Given the description of an element on the screen output the (x, y) to click on. 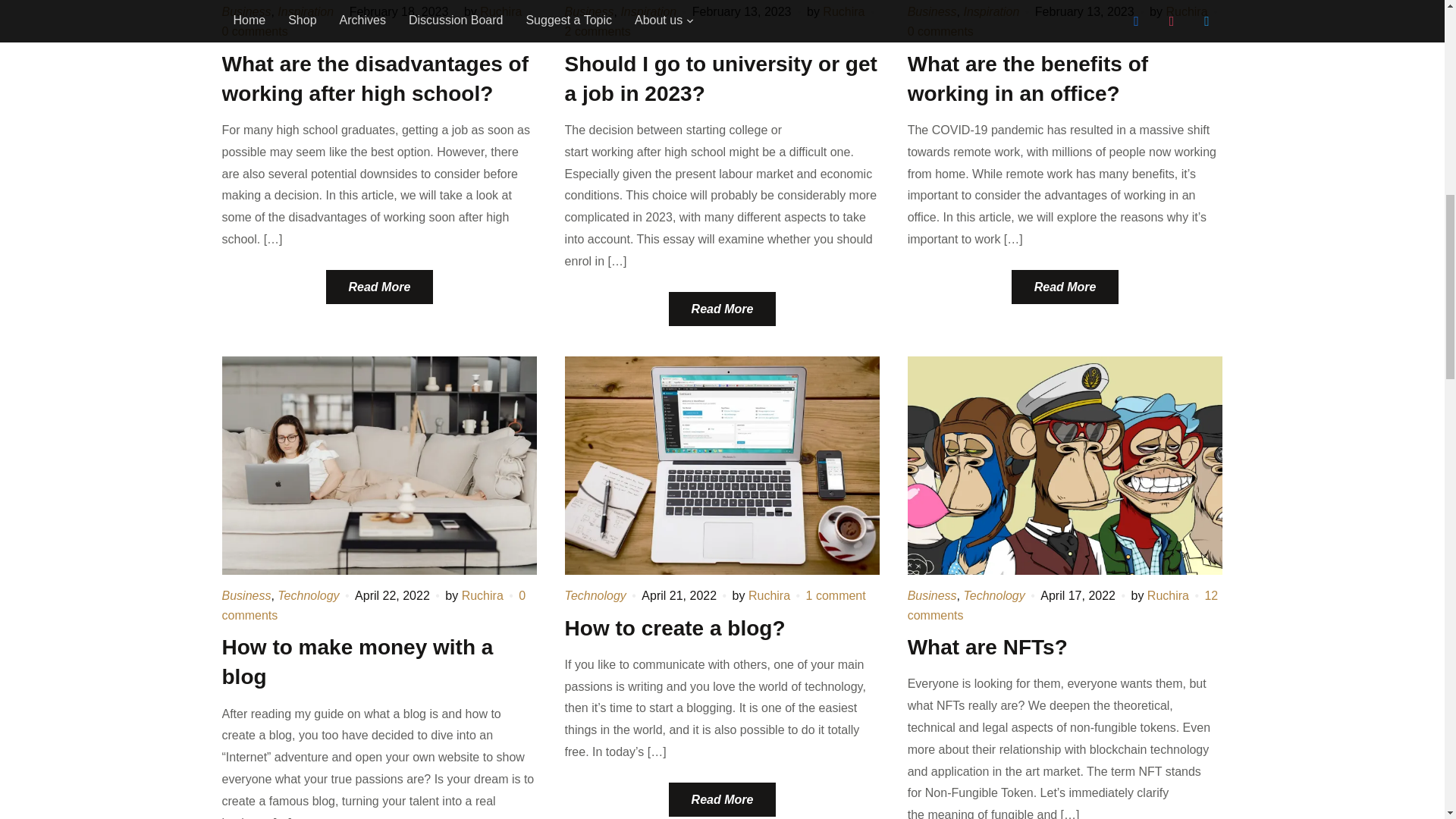
Posts by Ruchira (843, 11)
Posts by Ruchira (1186, 11)
Permalink to Should I go to university or get a job in 2023? (722, 308)
Posts by Ruchira (500, 11)
